Given the description of an element on the screen output the (x, y) to click on. 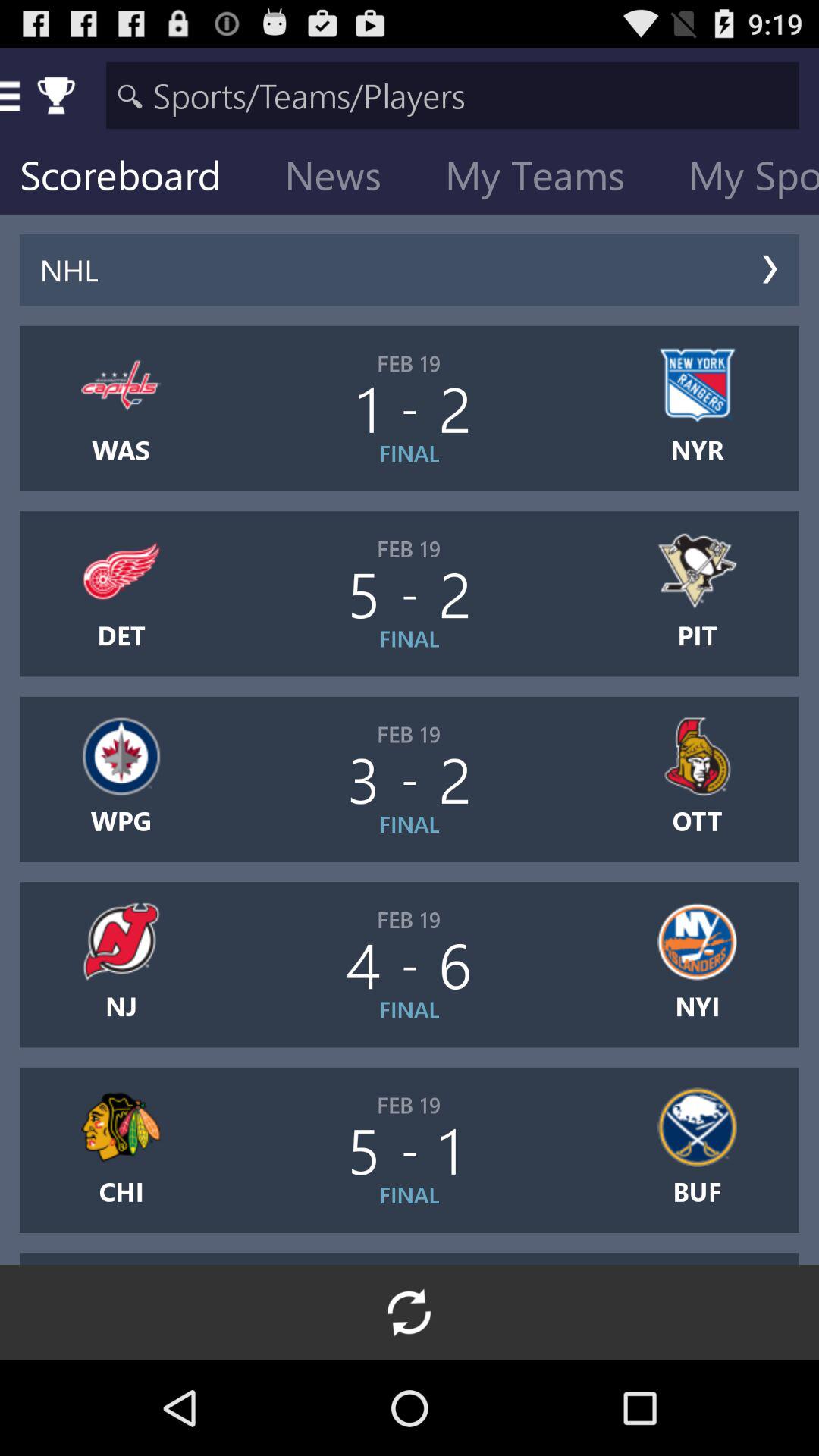
jump to my sports (743, 178)
